Given the description of an element on the screen output the (x, y) to click on. 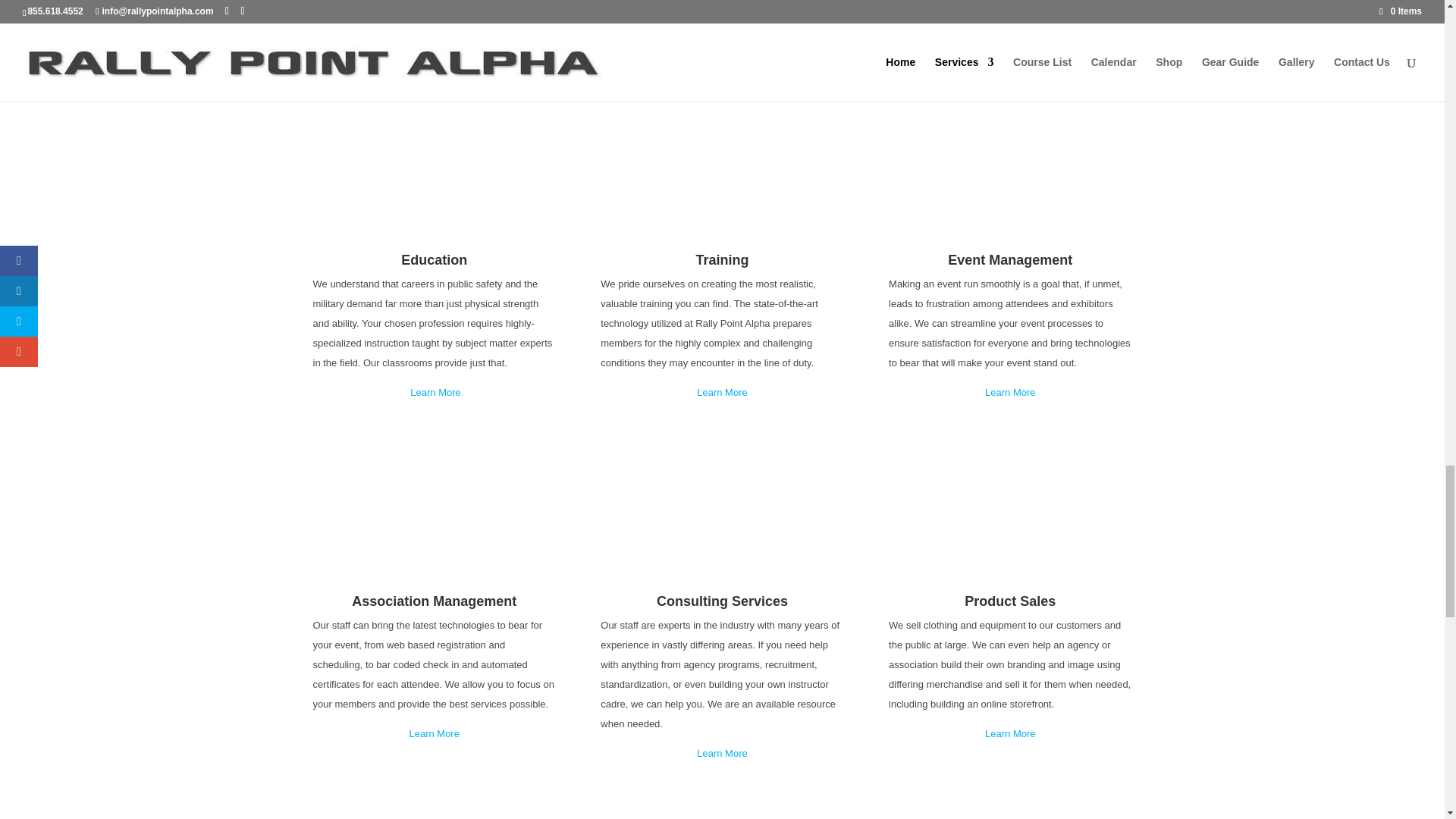
Learn More (1010, 392)
Association Management (434, 601)
Education (434, 259)
Consulting Services (721, 601)
Learn More (435, 392)
Learn More (721, 753)
Learn More (433, 733)
Training (721, 259)
Event Management (1009, 259)
Learn More (721, 392)
